Given the description of an element on the screen output the (x, y) to click on. 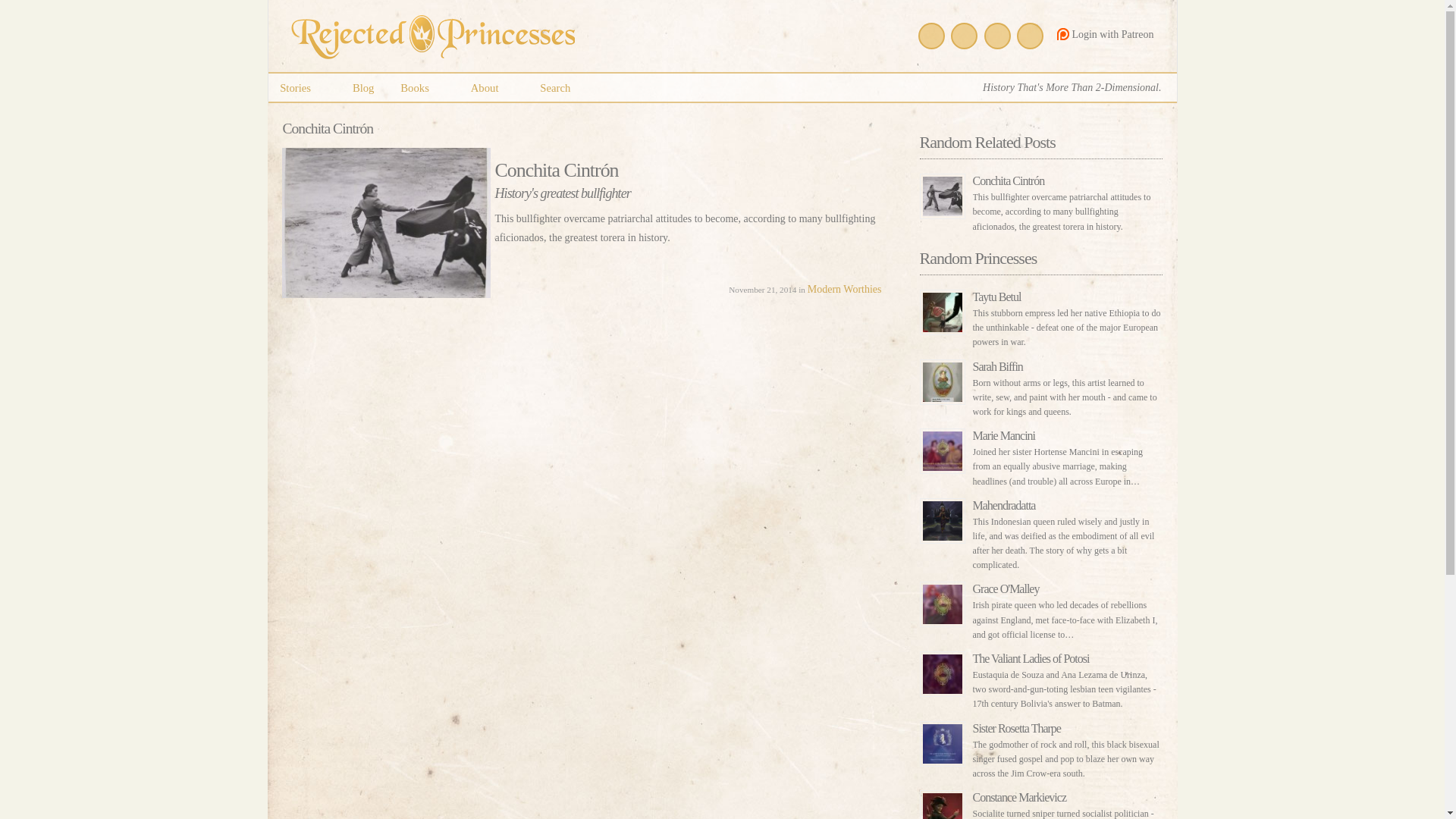
Permalink to Taytu Betul (1039, 315)
Books (422, 87)
Permalink to Sister Rosetta Tharpe (1039, 746)
About (491, 87)
Permalink to Constance Markievicz (1039, 800)
Permalink to The Valiant Ladies of Potosi (1039, 676)
Blog (362, 87)
Login with Patreon (1103, 34)
Modern Worthies (845, 288)
Permalink to Mahendradatta (1039, 530)
Permalink to Marie Mancini (1039, 453)
Permalink to Grace O'Malley (1039, 607)
Stories (302, 87)
Search (555, 87)
